Given the description of an element on the screen output the (x, y) to click on. 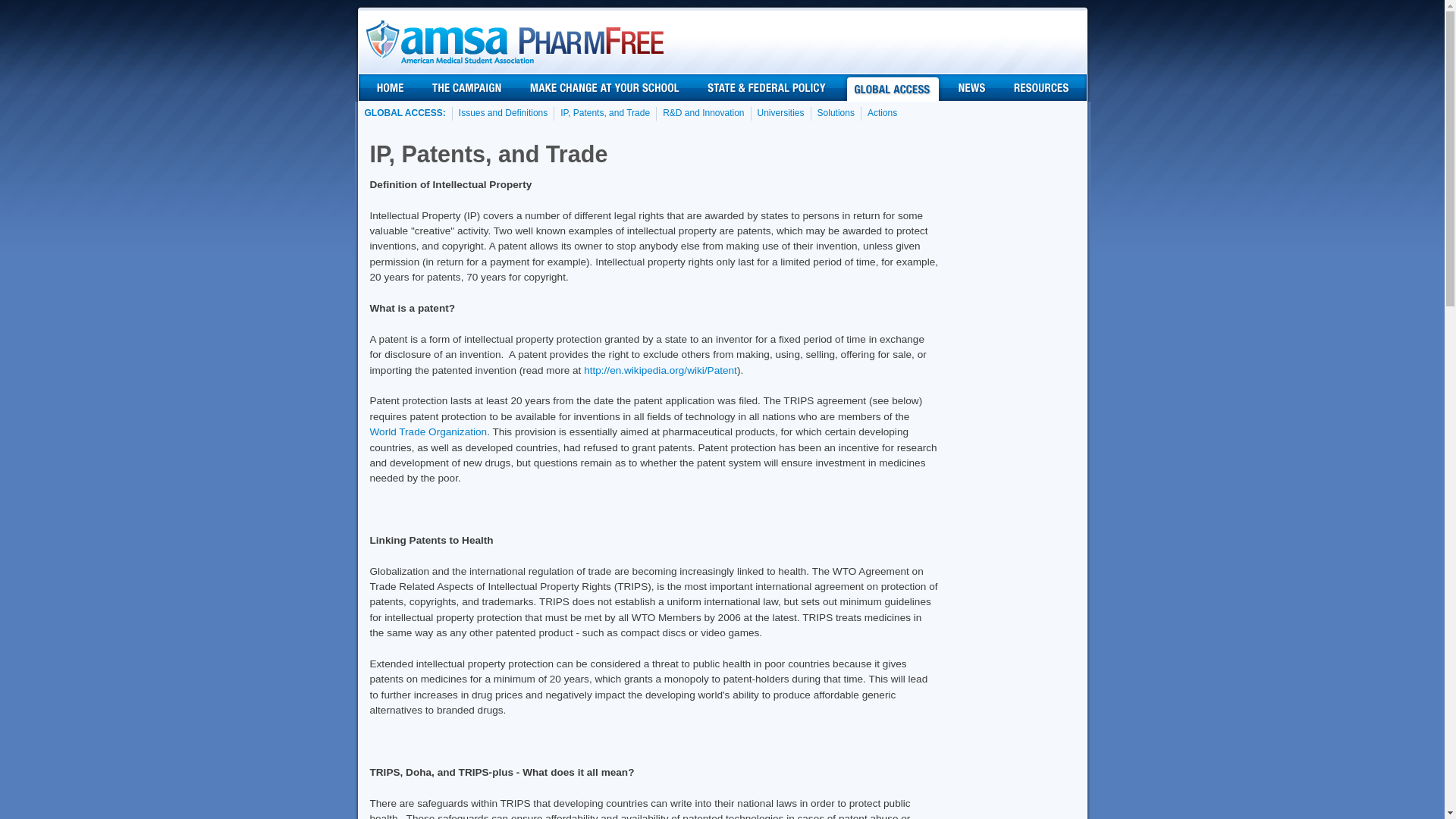
IP, Patents, and Trade (604, 113)
Solutions (835, 113)
Issues and Definitions (502, 113)
IP, Patents, and Trade (604, 113)
Solutions (835, 113)
Actions (881, 113)
Issues and Definitions (502, 113)
GLOBAL ACCESS: (404, 113)
Actions (881, 113)
Universities (780, 113)
World Trade Organization (428, 431)
Universities (780, 113)
